Given the description of an element on the screen output the (x, y) to click on. 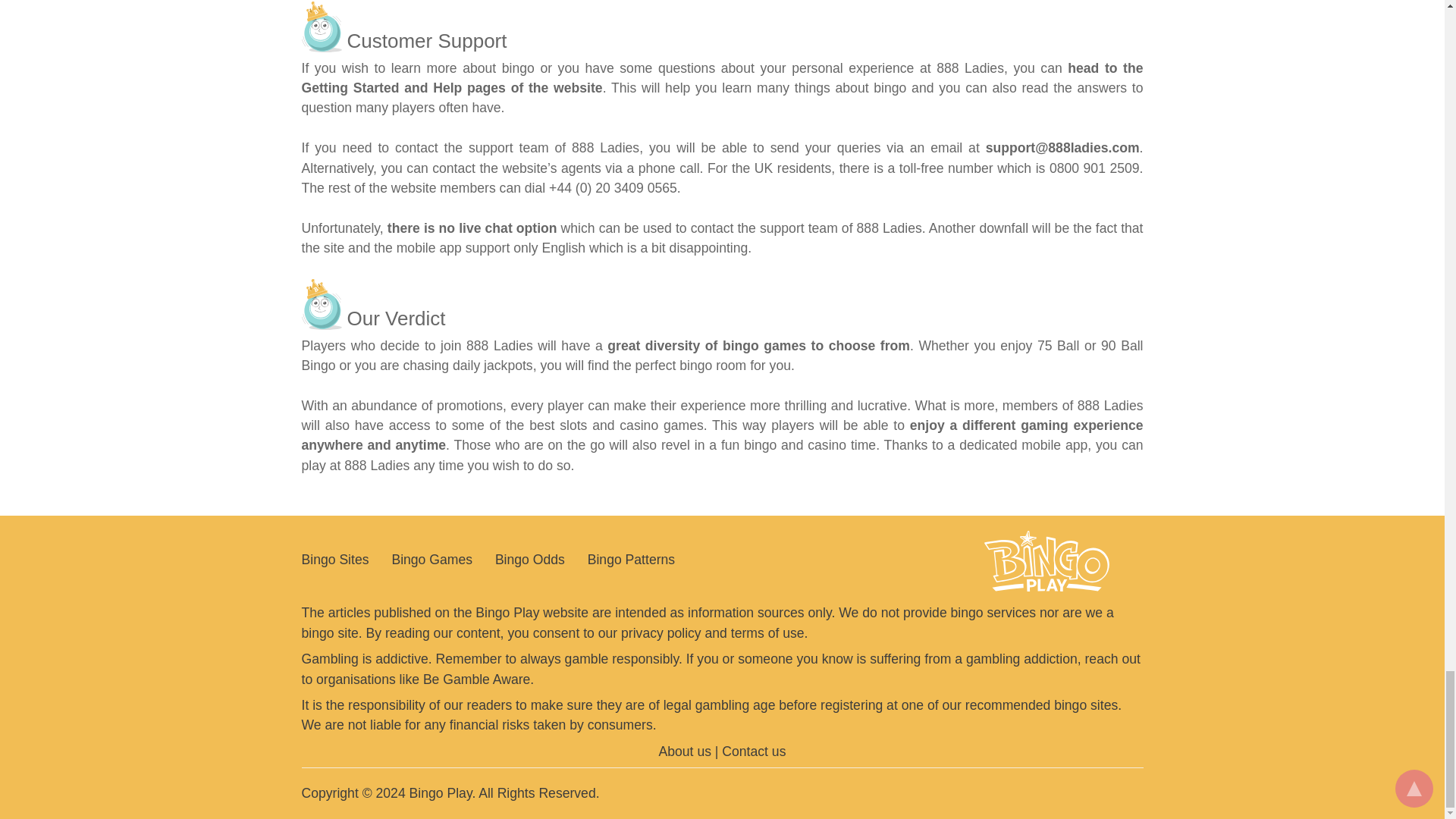
Bingo Patterns (631, 559)
Bingo Odds (529, 559)
Bingo Games (431, 559)
Bingo Sites (335, 559)
Contact us (754, 751)
About us (685, 751)
